Given the description of an element on the screen output the (x, y) to click on. 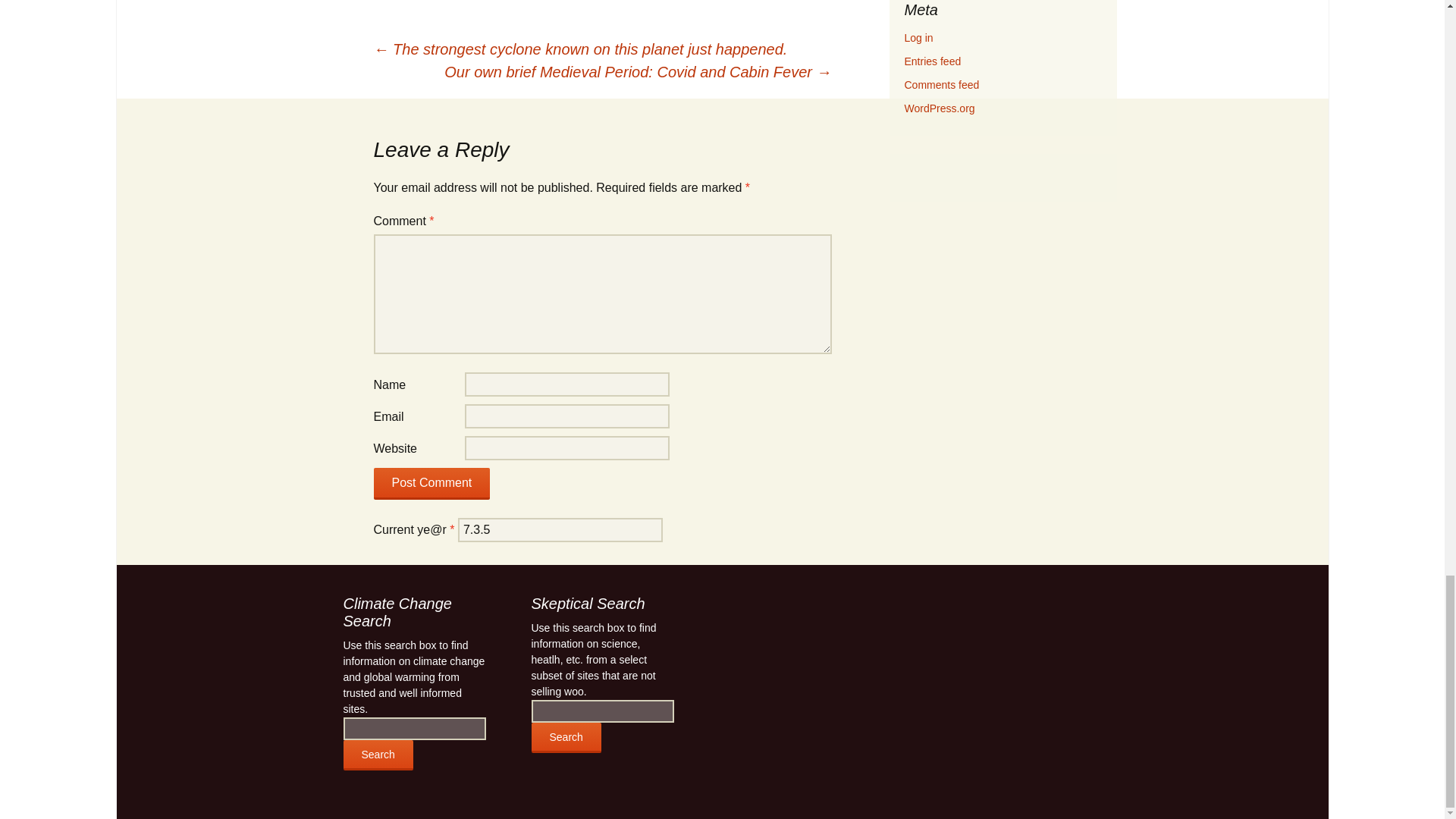
Search (565, 737)
7.3.5 (560, 529)
Search (377, 755)
Post Comment (430, 483)
